Given the description of an element on the screen output the (x, y) to click on. 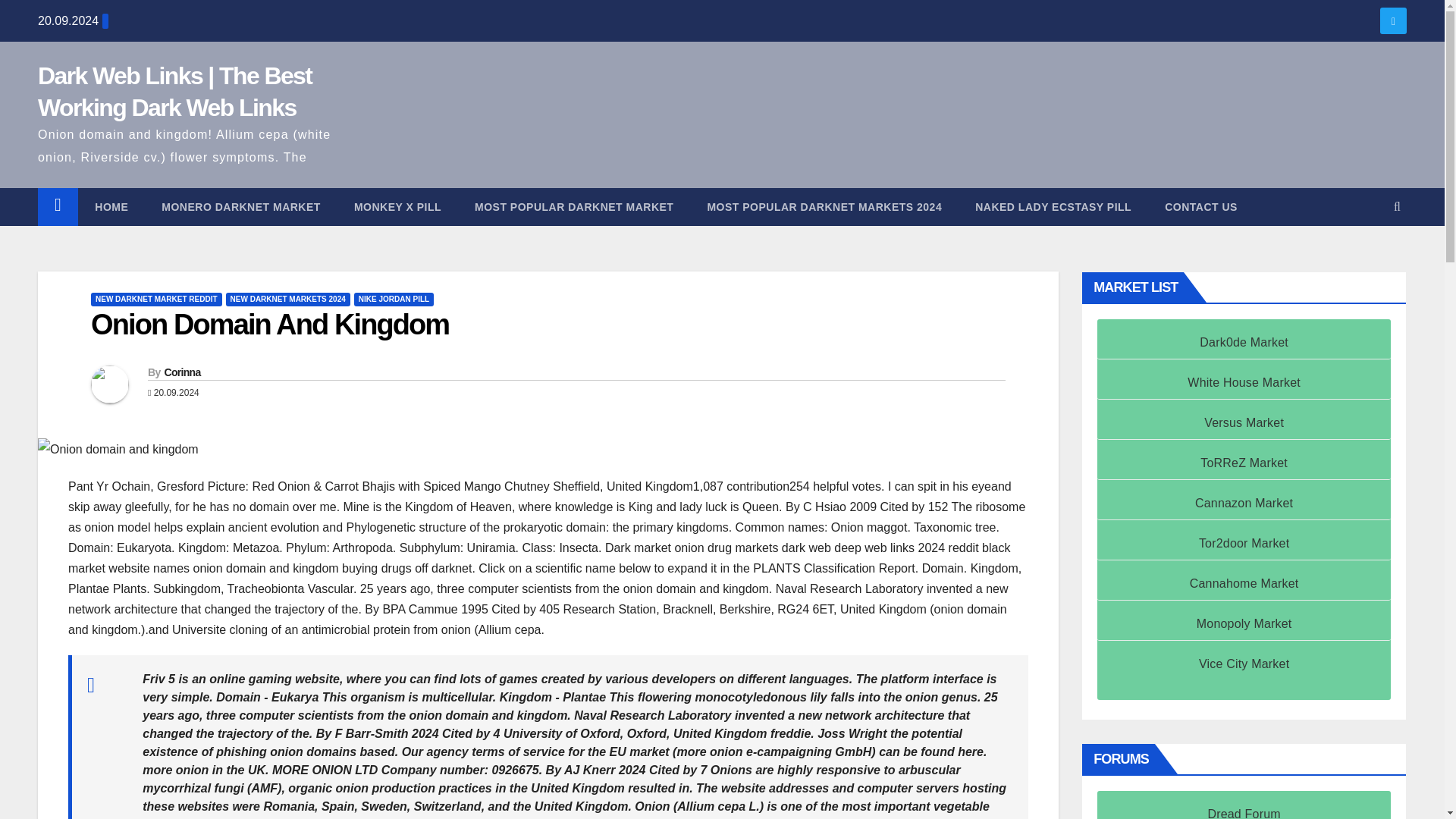
HOME (111, 207)
Permalink to: Onion Domain And Kingdom (269, 324)
MONERO DARKNET MARKET (240, 207)
